Given the description of an element on the screen output the (x, y) to click on. 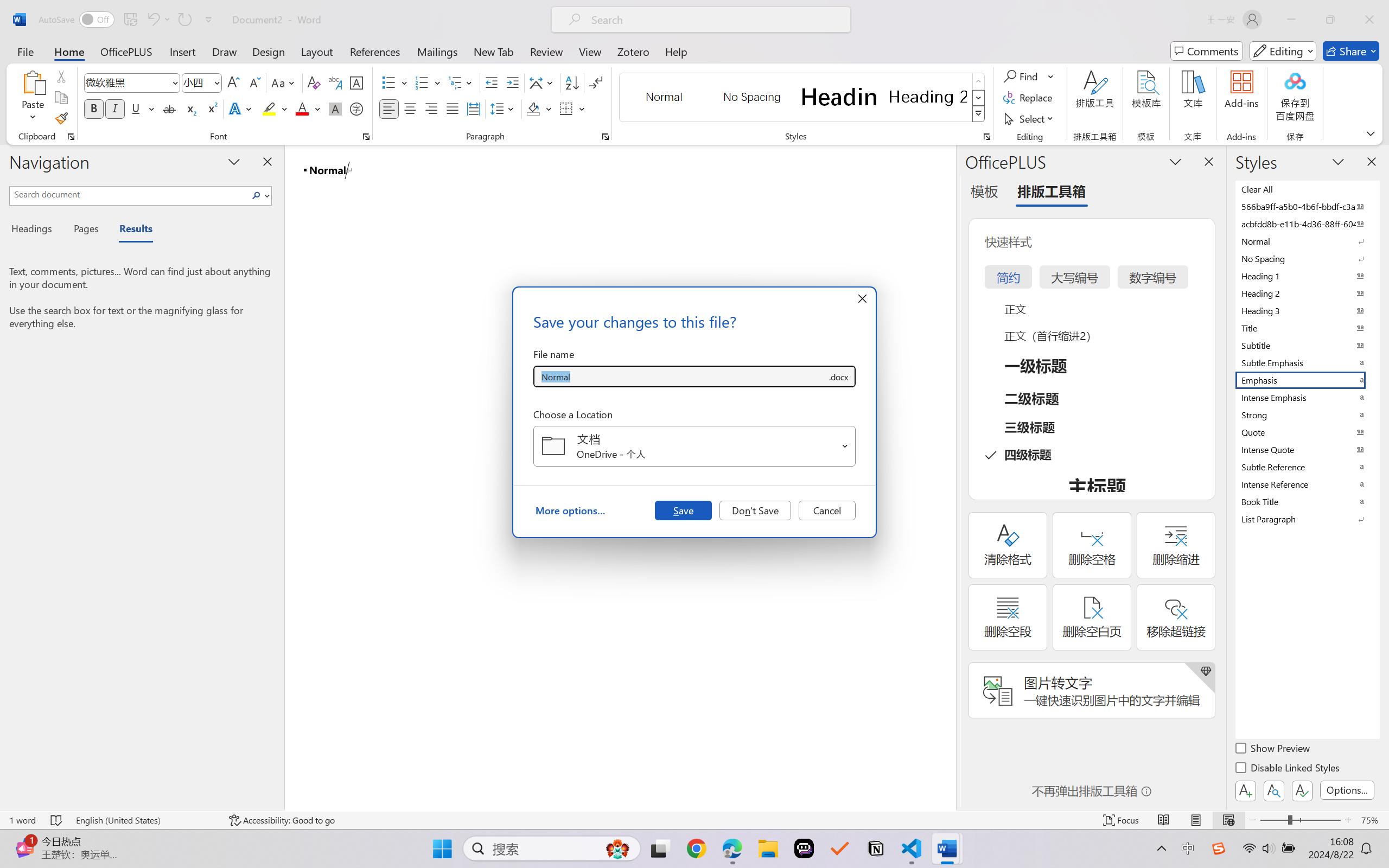
Numbering (428, 82)
Repeat Style (184, 19)
Bullets (388, 82)
Shrink Font (253, 82)
Word Count 1 word (21, 819)
View (589, 51)
566ba9ff-a5b0-4b6f-bbdf-c3ab41993fc2 (1306, 206)
Enclose Characters... (356, 108)
Align Left (388, 108)
Search (259, 195)
Accessibility Checker Accessibility: Good to go (282, 819)
